Given the description of an element on the screen output the (x, y) to click on. 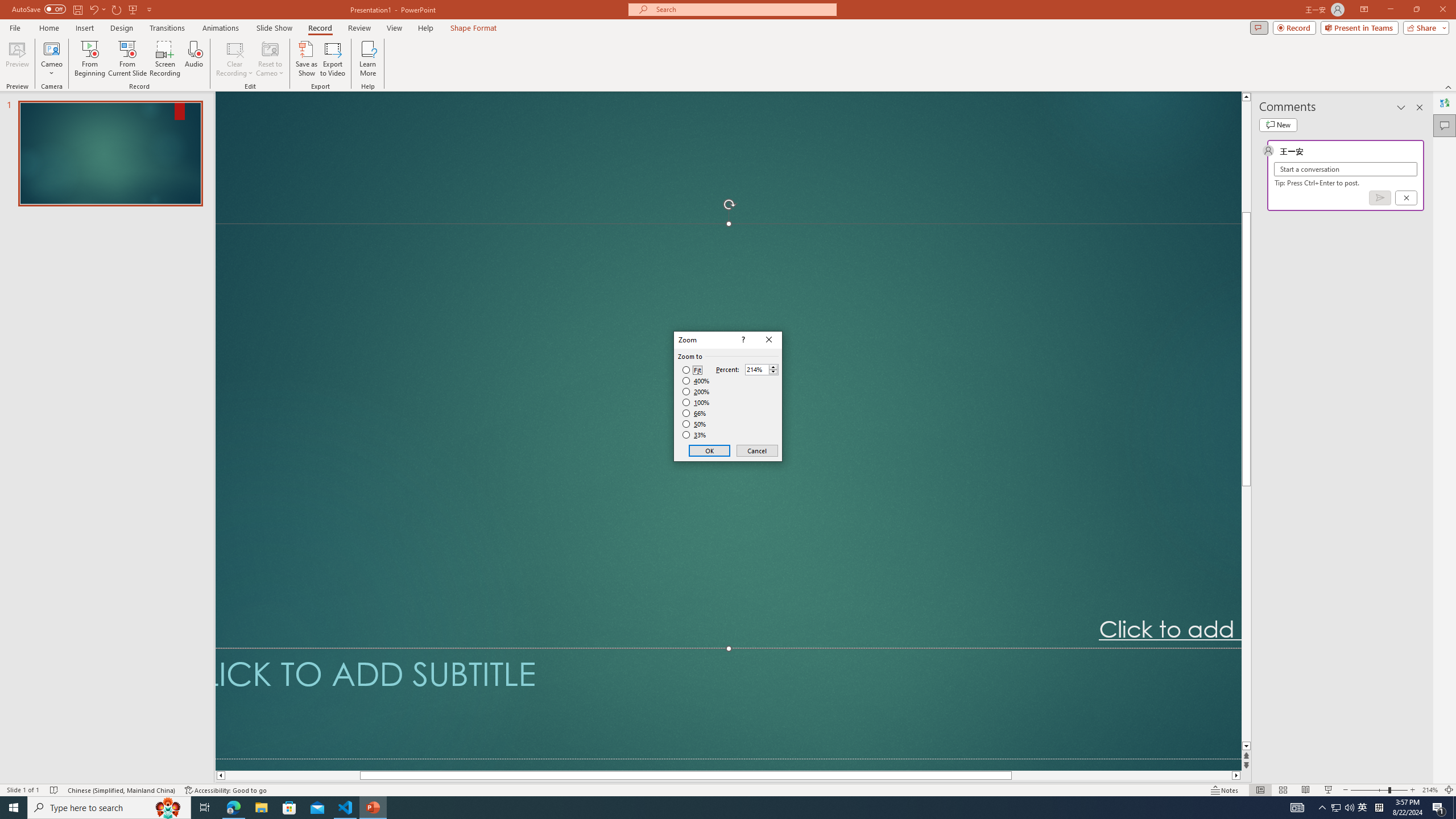
Cancel (756, 450)
From Current Slide... (127, 58)
Accessibility Checker Accessibility: Good to go (226, 790)
Post comment (Ctrl + Enter) (1379, 197)
